Given the description of an element on the screen output the (x, y) to click on. 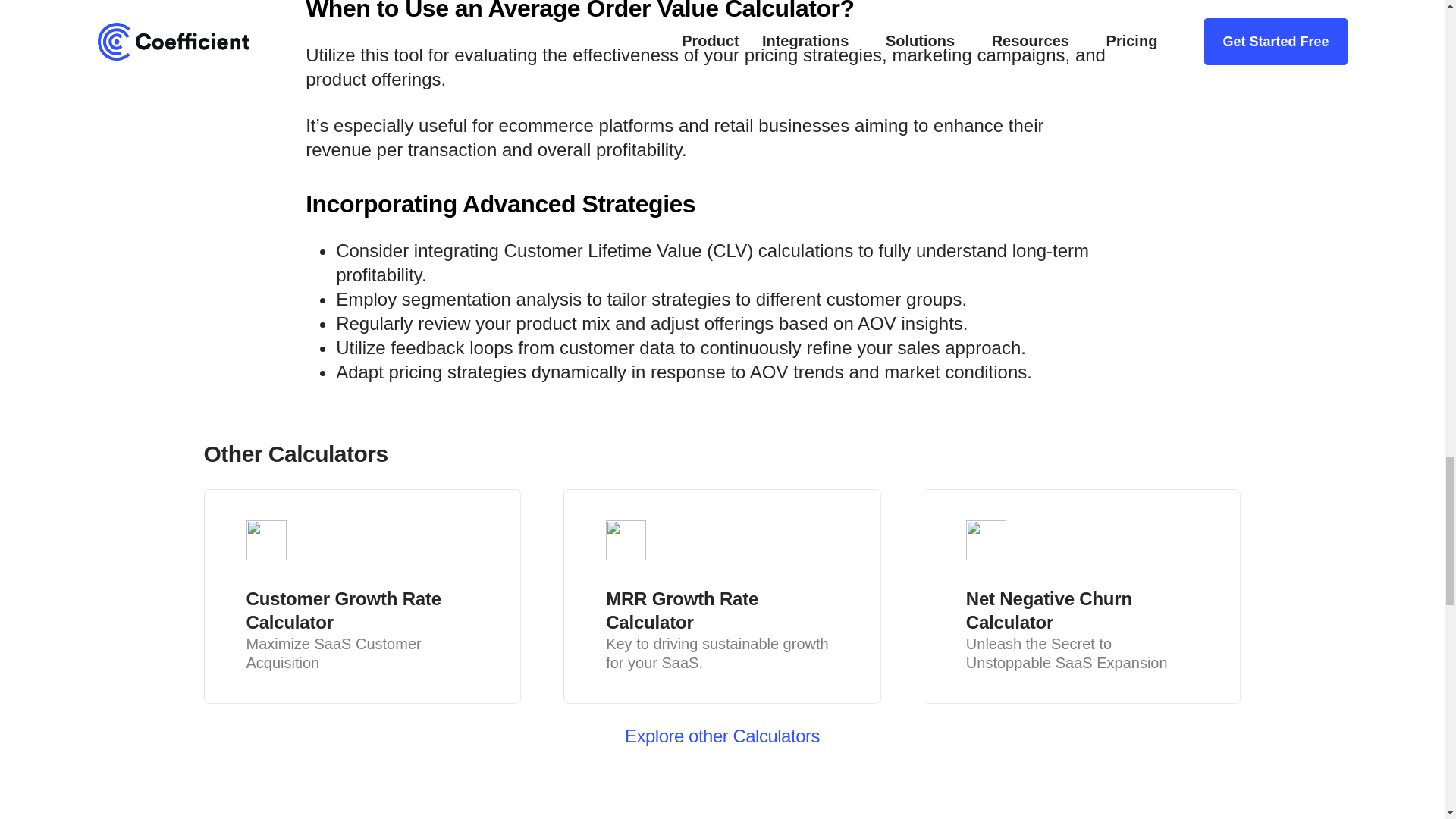
Explore other Calculators (721, 735)
